Given the description of an element on the screen output the (x, y) to click on. 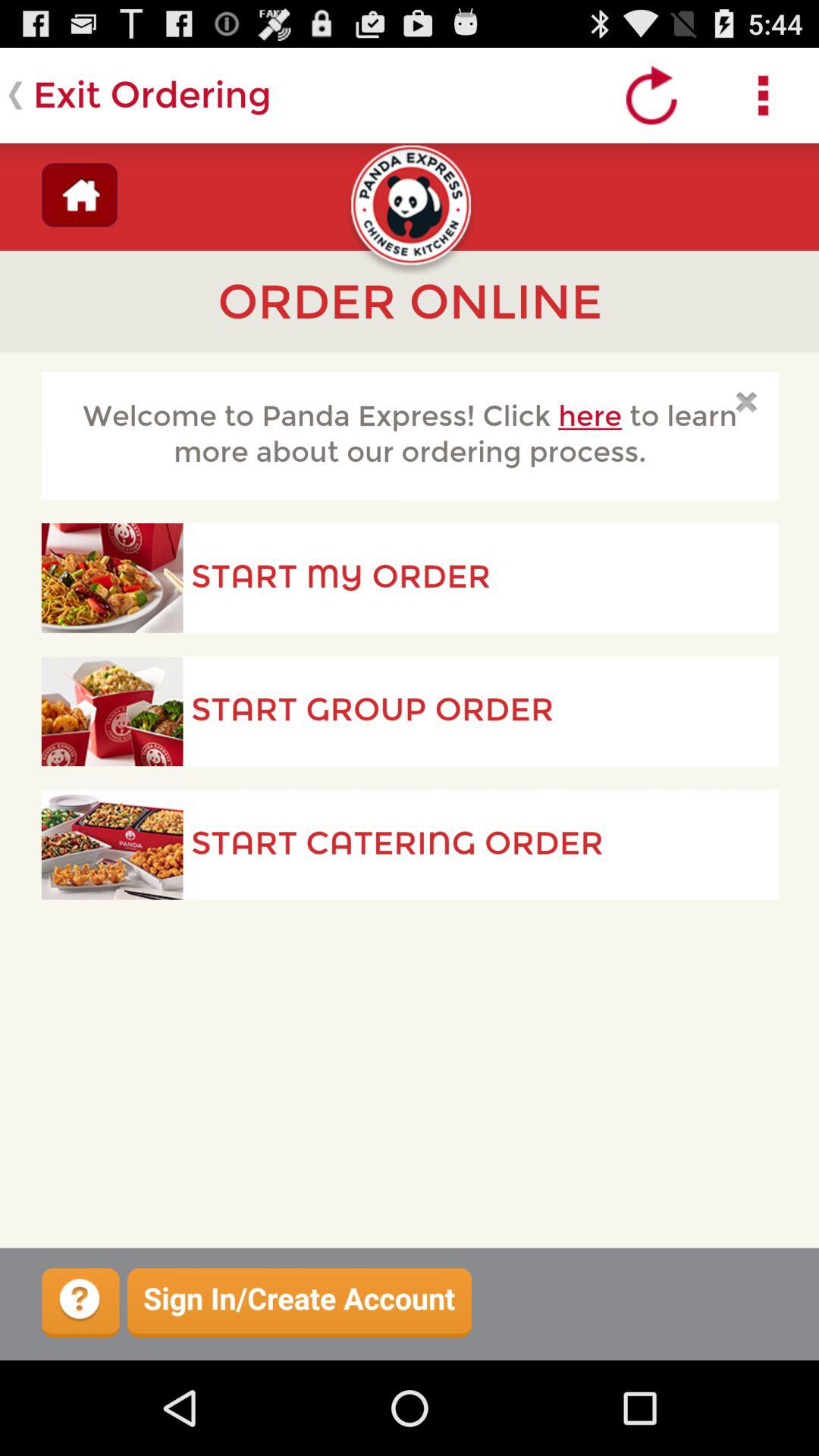
parameters (763, 95)
